Given the description of an element on the screen output the (x, y) to click on. 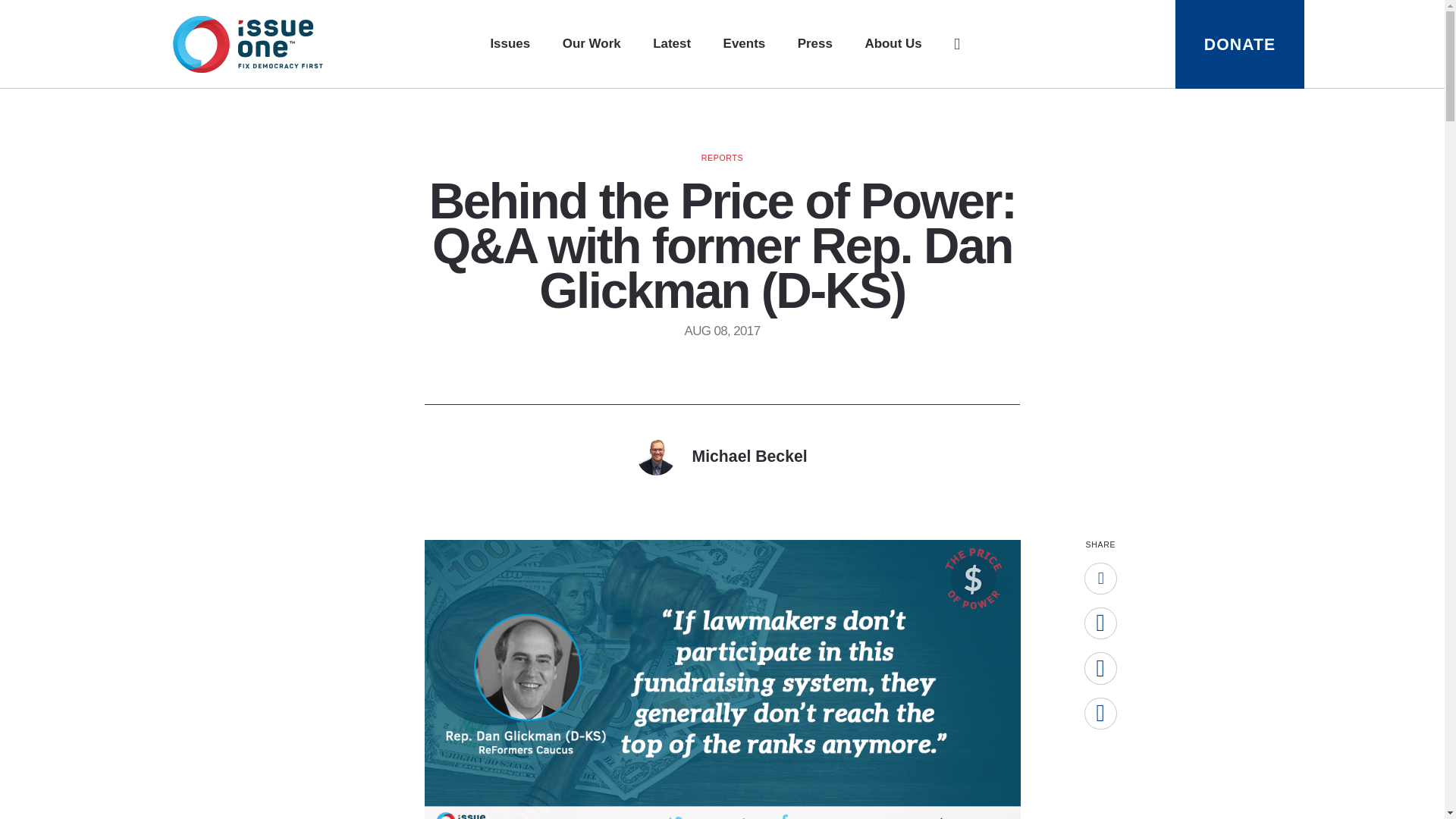
Events (744, 44)
About Us (892, 44)
Michael Beckel (721, 455)
Latest (671, 44)
Issues (509, 44)
Our Work (591, 44)
Press (814, 44)
DONATE (1239, 44)
